Given the description of an element on the screen output the (x, y) to click on. 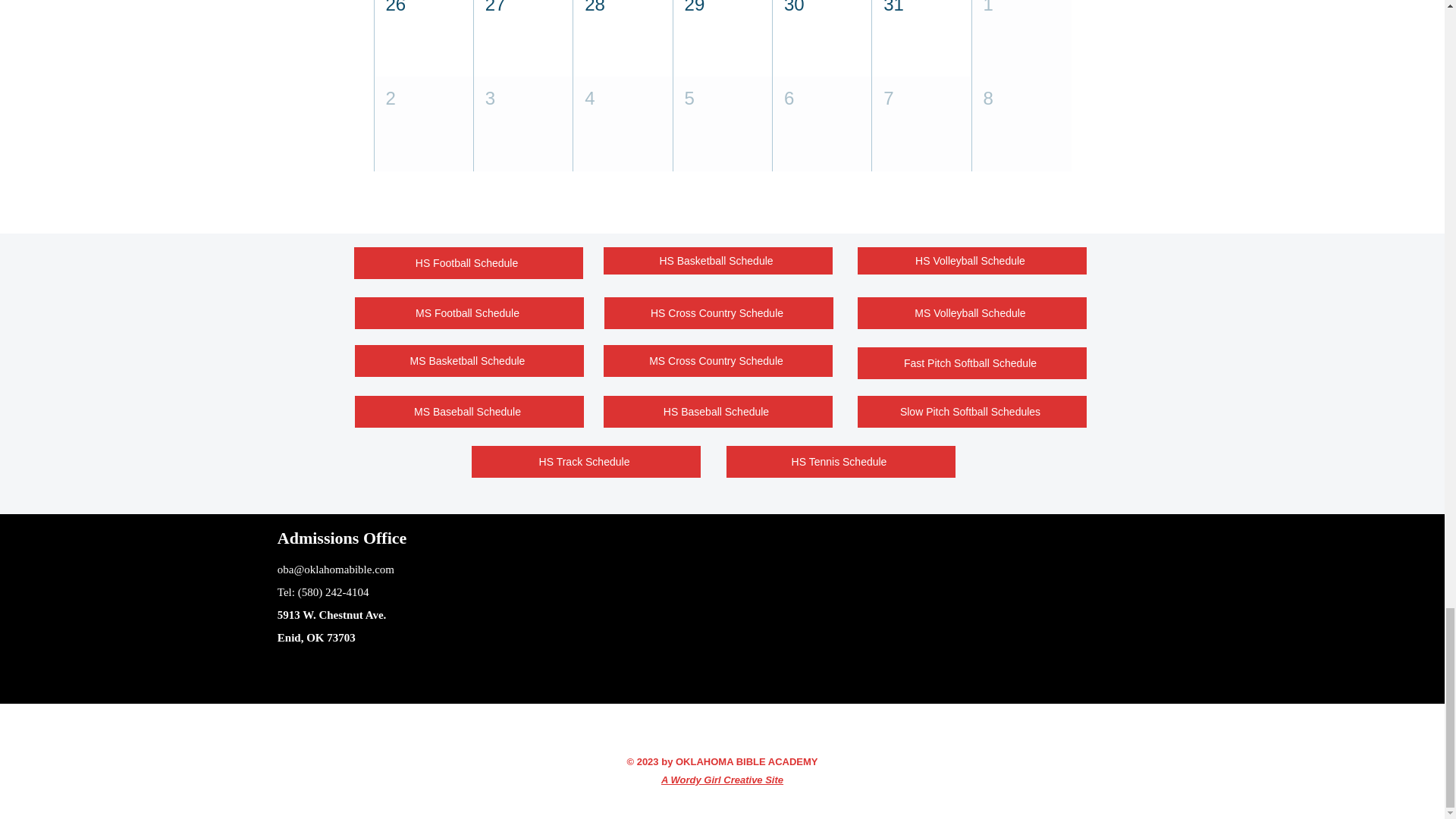
HS Football Schedule (467, 263)
HS Track Schedule (585, 461)
MS Football Schedule (469, 313)
MS Volleyball Schedule (971, 313)
Slow Pitch Softball Schedules (971, 411)
HS Baseball Schedule (718, 411)
HS Volleyball Schedule (971, 260)
MS Basketball Schedule (469, 360)
MS Cross Country Schedule (718, 360)
MS Baseball Schedule (469, 411)
